Given the description of an element on the screen output the (x, y) to click on. 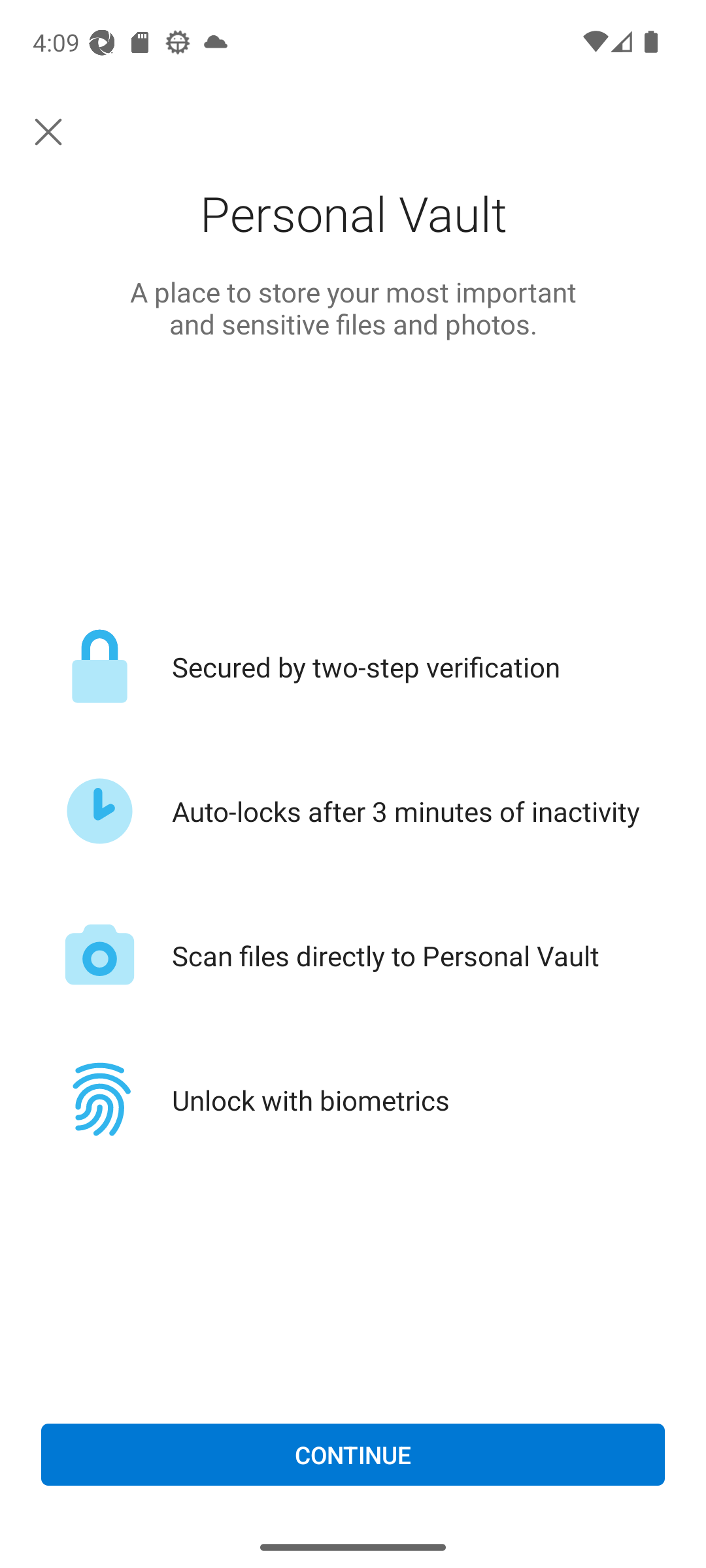
Close (48, 131)
CONTINUE (352, 1454)
